Given the description of an element on the screen output the (x, y) to click on. 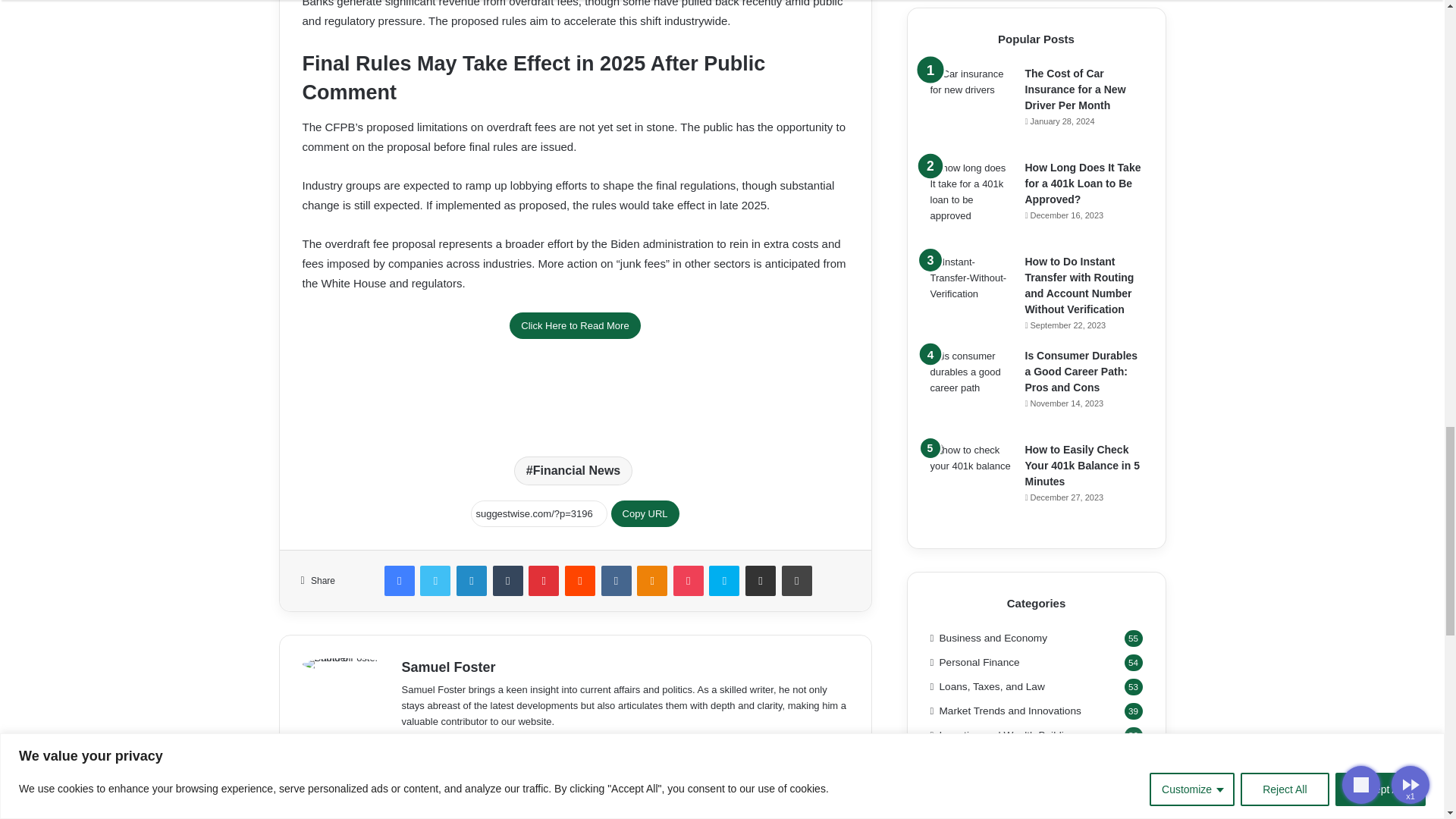
Twitter (434, 580)
Pinterest (543, 580)
Reddit (579, 580)
Facebook (399, 580)
Tumblr (507, 580)
LinkedIn (471, 580)
